Given the description of an element on the screen output the (x, y) to click on. 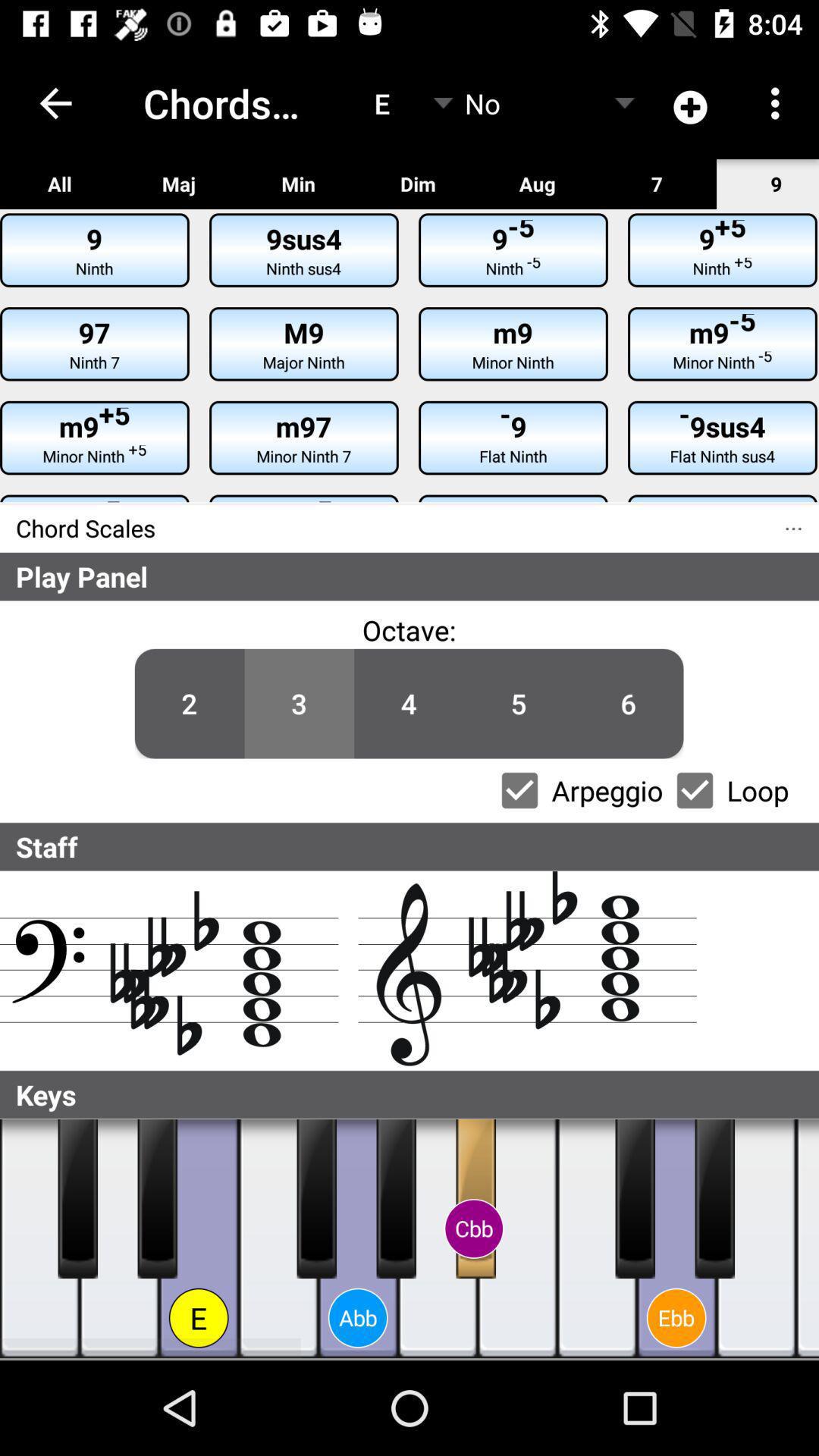
switch the arpeggio option (519, 790)
